Given the description of an element on the screen output the (x, y) to click on. 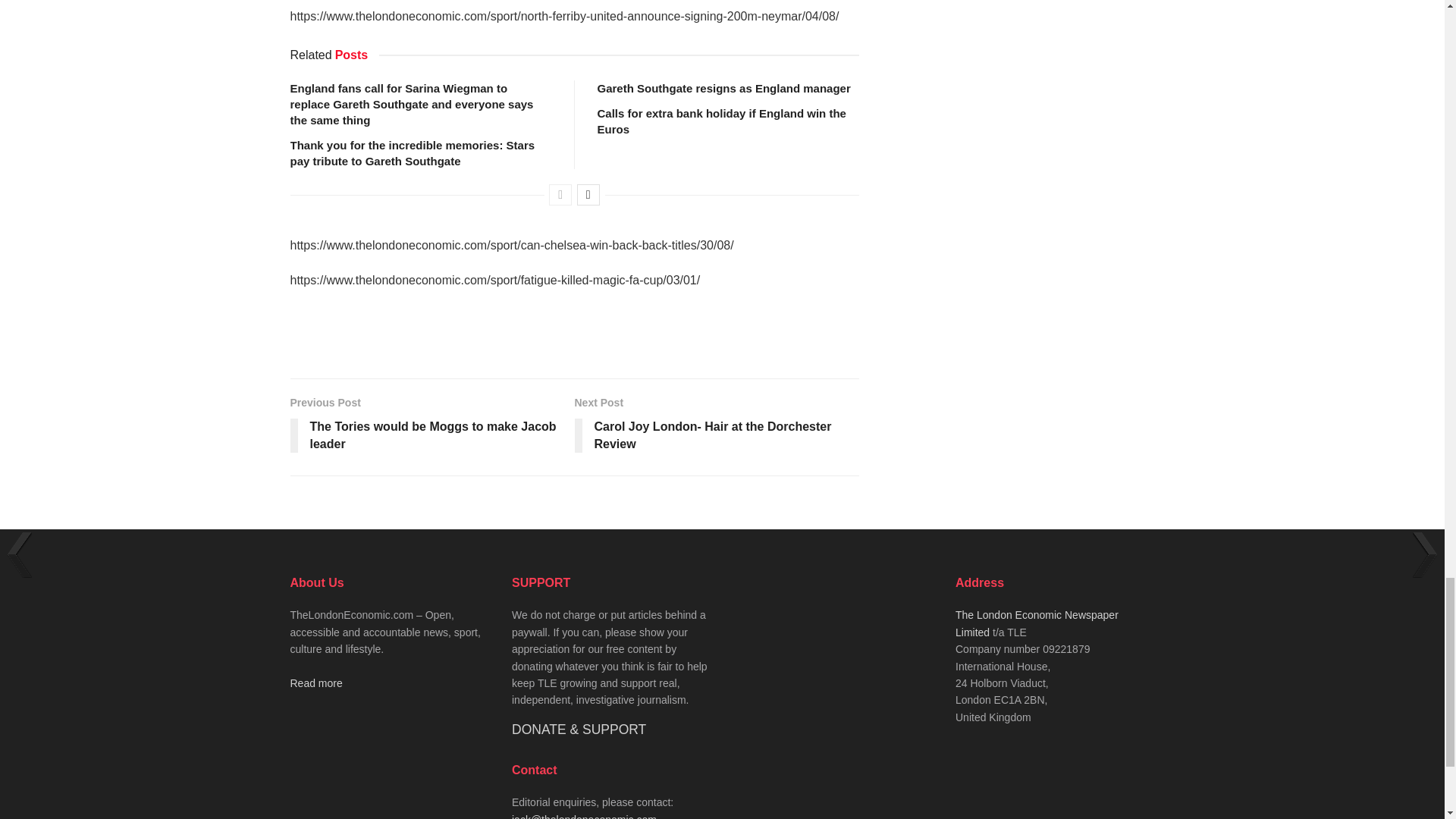
Next (587, 194)
Previous (560, 194)
